Given the description of an element on the screen output the (x, y) to click on. 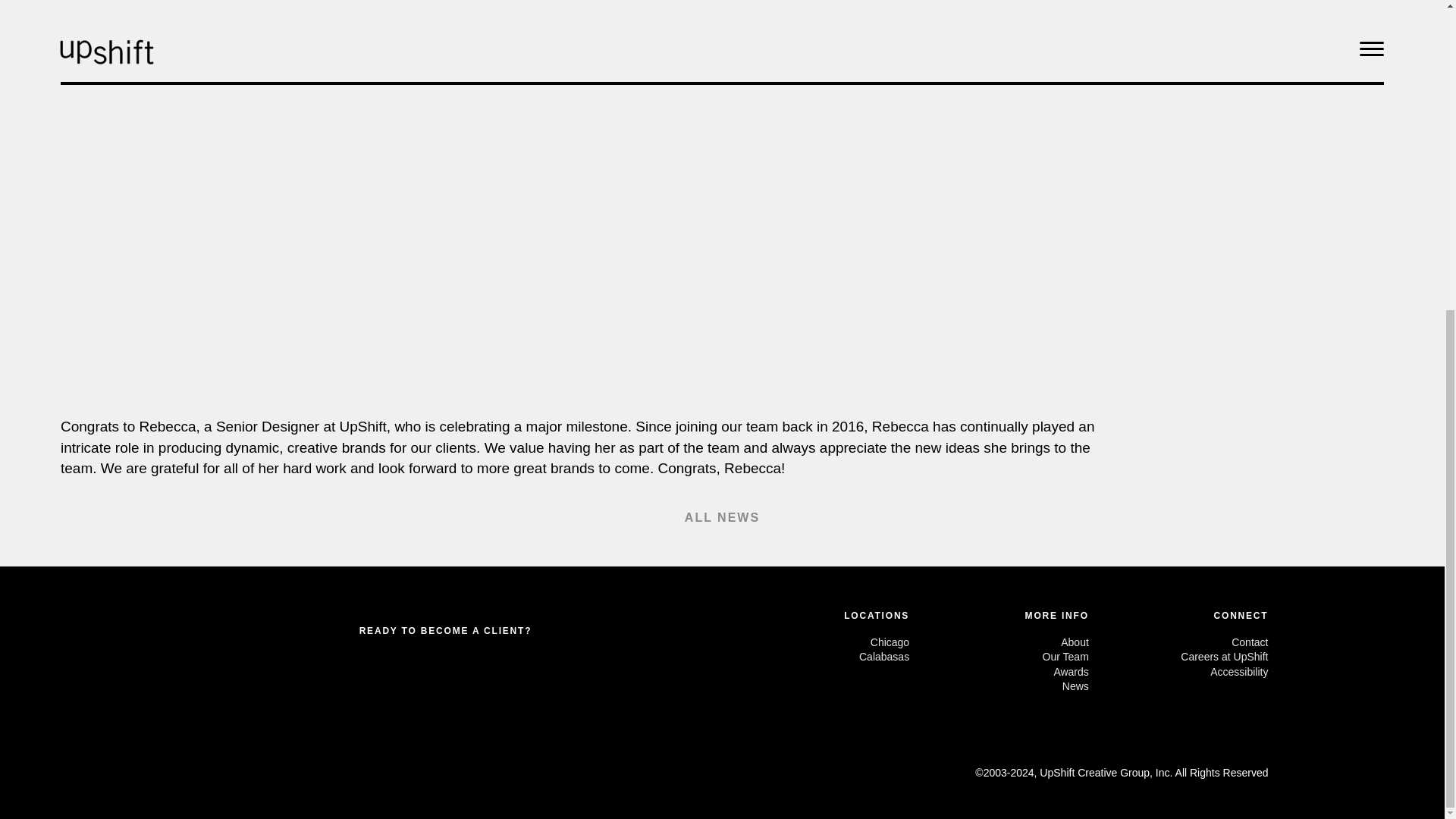
Chicago (818, 642)
News (998, 686)
About (998, 642)
Careers at UpShift (1178, 657)
READY TO BECOME A CLIENT? (445, 632)
ALL NEWS (722, 517)
Awards (998, 672)
Contact (1178, 642)
Accessibility (1178, 672)
Calabasas (818, 657)
Our Team (998, 657)
